Given the description of an element on the screen output the (x, y) to click on. 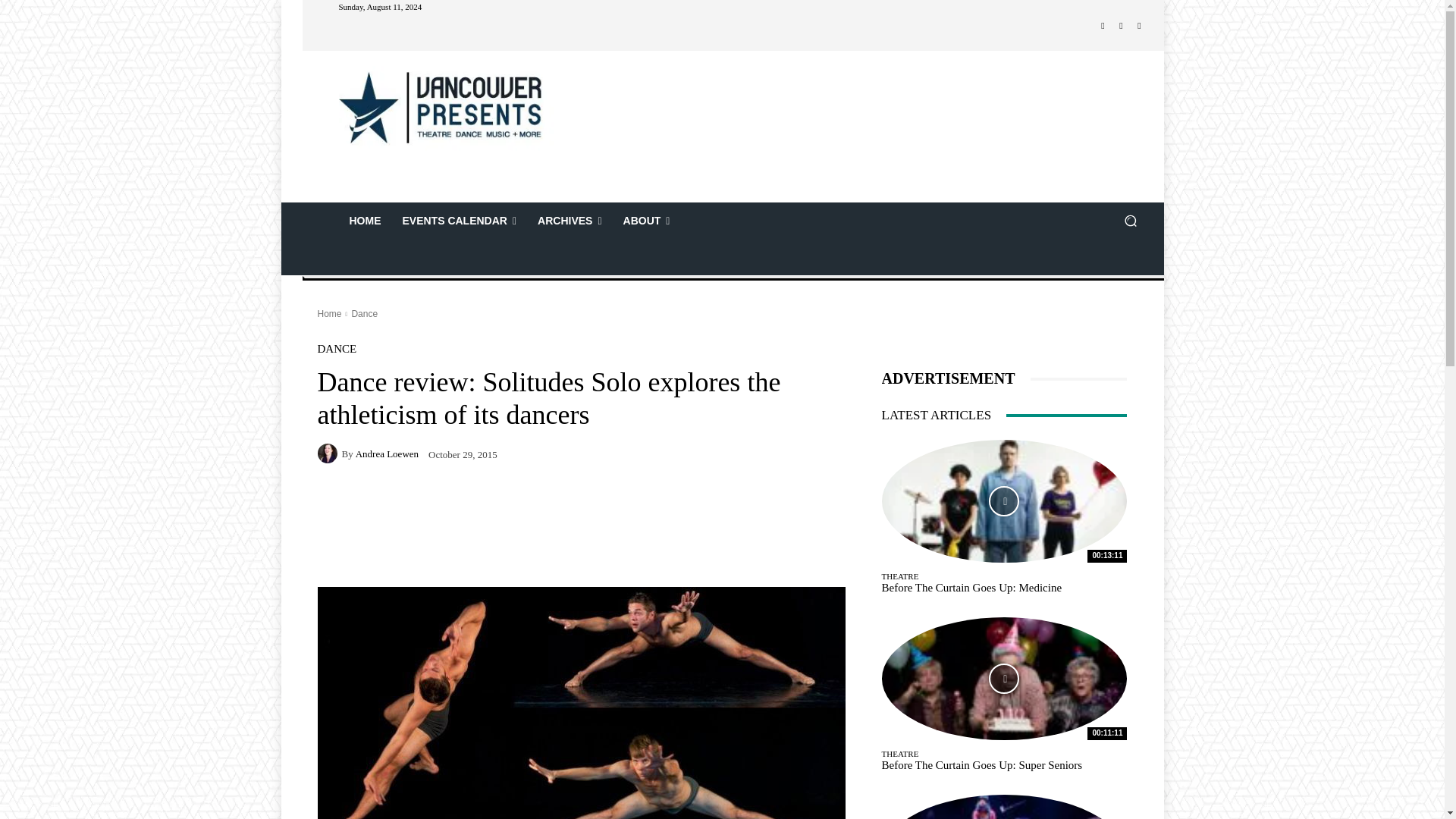
Instagram (1120, 25)
Rss (1138, 25)
ARCHIVES (569, 220)
View all posts in Dance (363, 313)
EVENTS CALENDAR (459, 220)
HOME (364, 220)
Facebook (1102, 25)
